Given the description of an element on the screen output the (x, y) to click on. 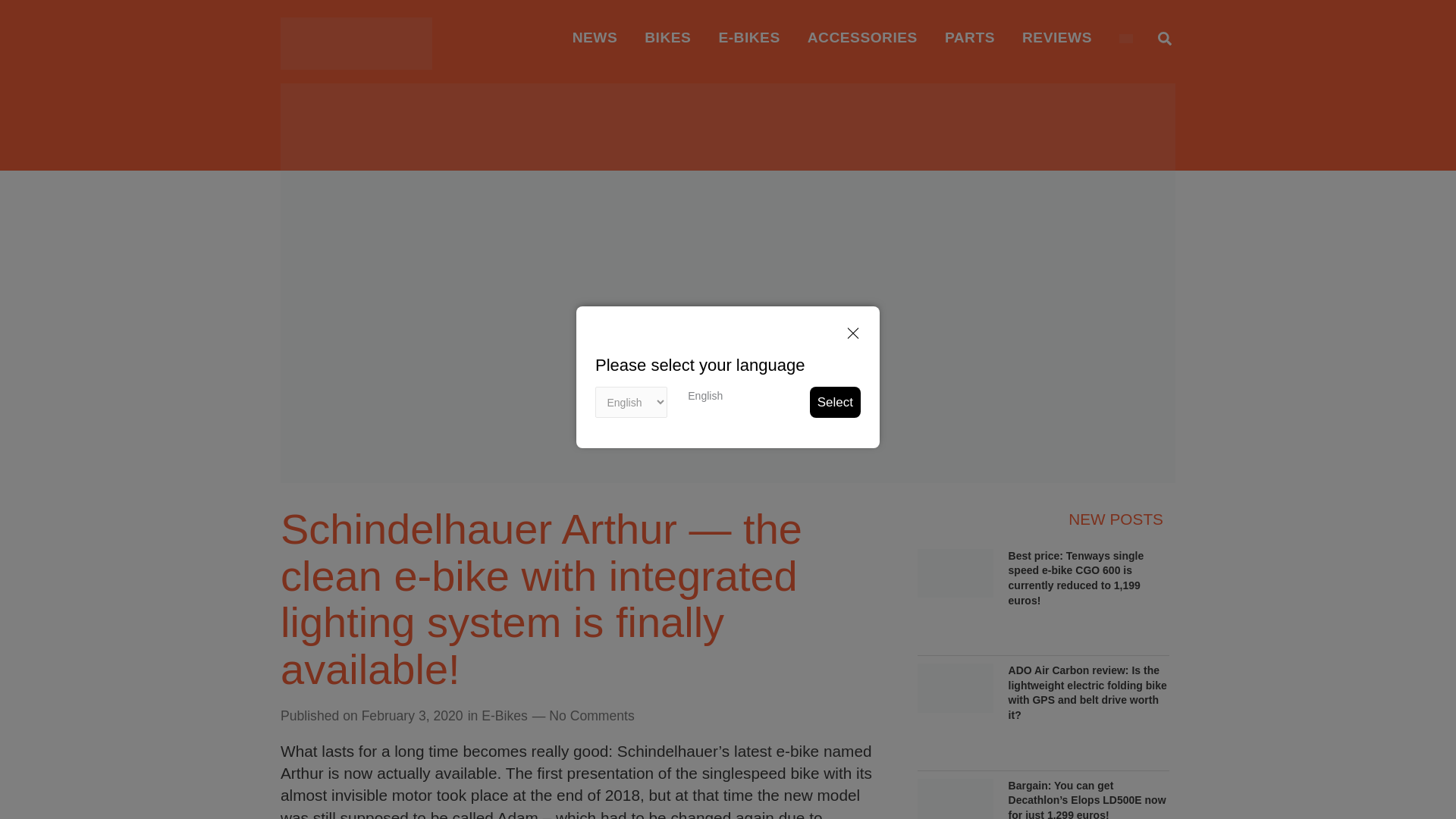
Select (834, 402)
E-Bikes (504, 715)
Select your language (704, 395)
BIKES (667, 38)
NEWS (595, 38)
PARTS (970, 38)
E-BIKES (748, 38)
ACCESSORIES (862, 38)
